Given the description of an element on the screen output the (x, y) to click on. 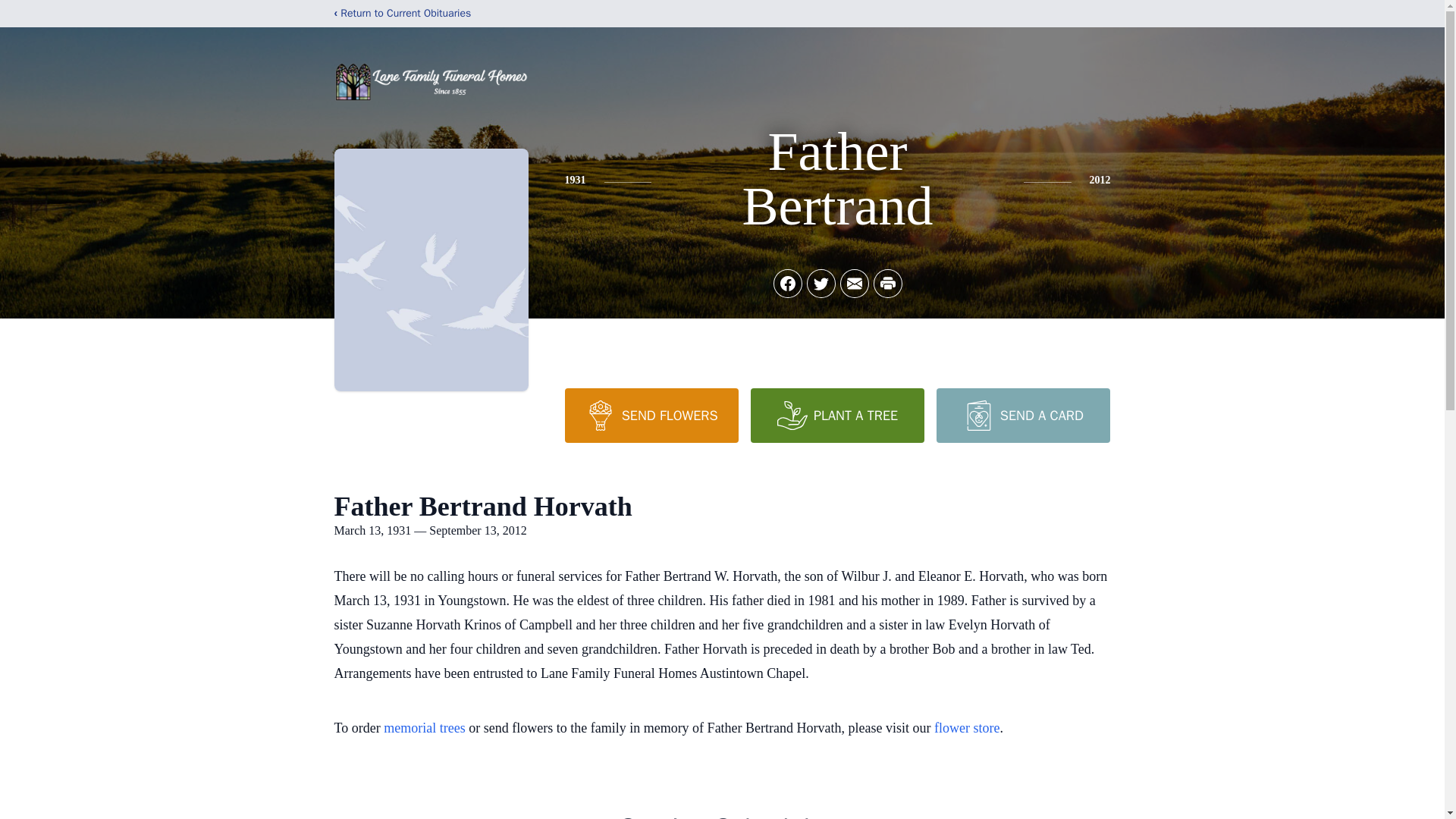
memorial trees (424, 727)
flower store (966, 727)
PLANT A TREE (837, 415)
SEND A CARD (1022, 415)
SEND FLOWERS (651, 415)
